Given the description of an element on the screen output the (x, y) to click on. 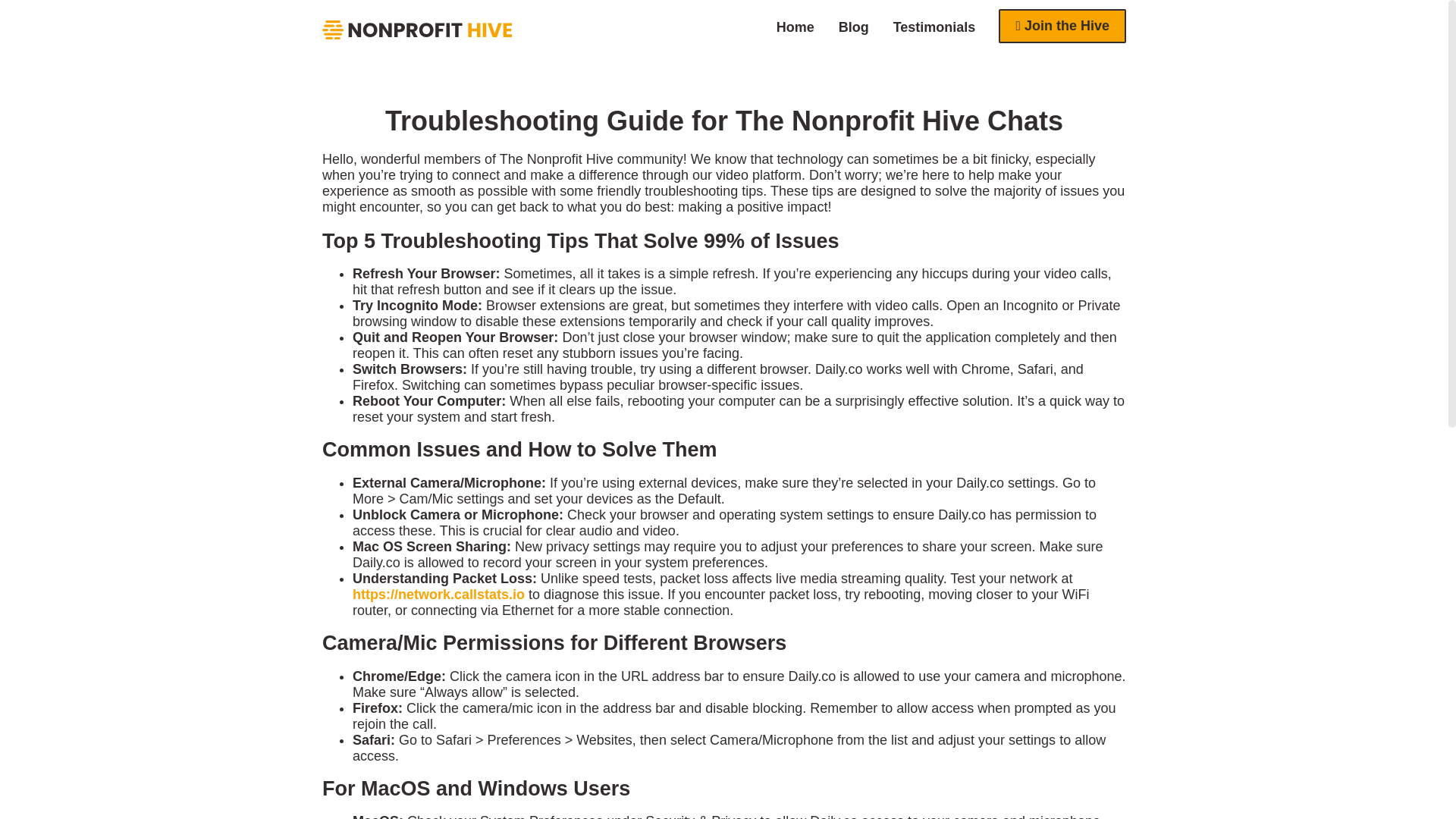
Nonprofit Hive (416, 29)
Testimonials (934, 27)
Home (795, 27)
Blog (853, 27)
